Given the description of an element on the screen output the (x, y) to click on. 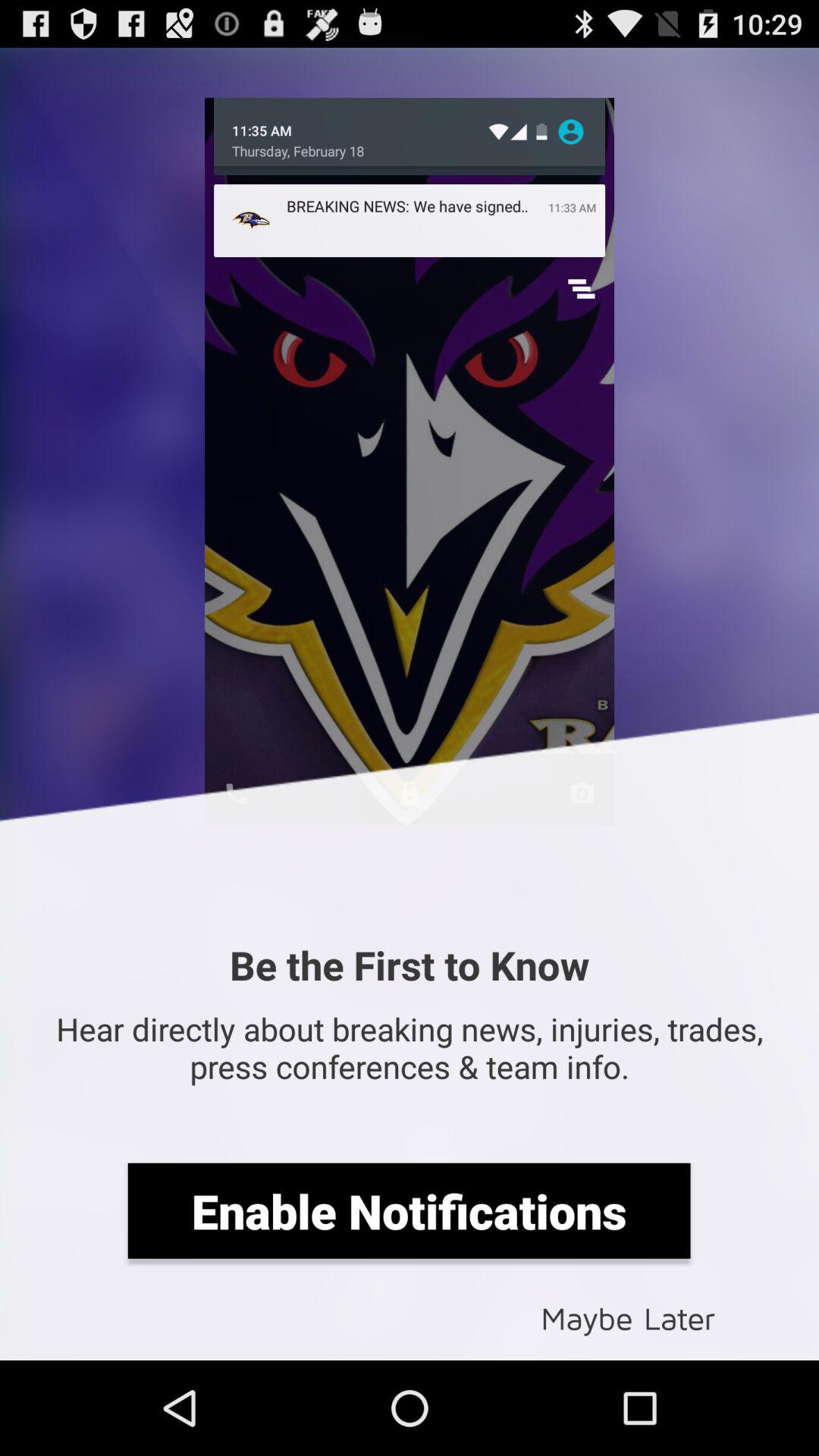
jump to maybe later item (627, 1317)
